Given the description of an element on the screen output the (x, y) to click on. 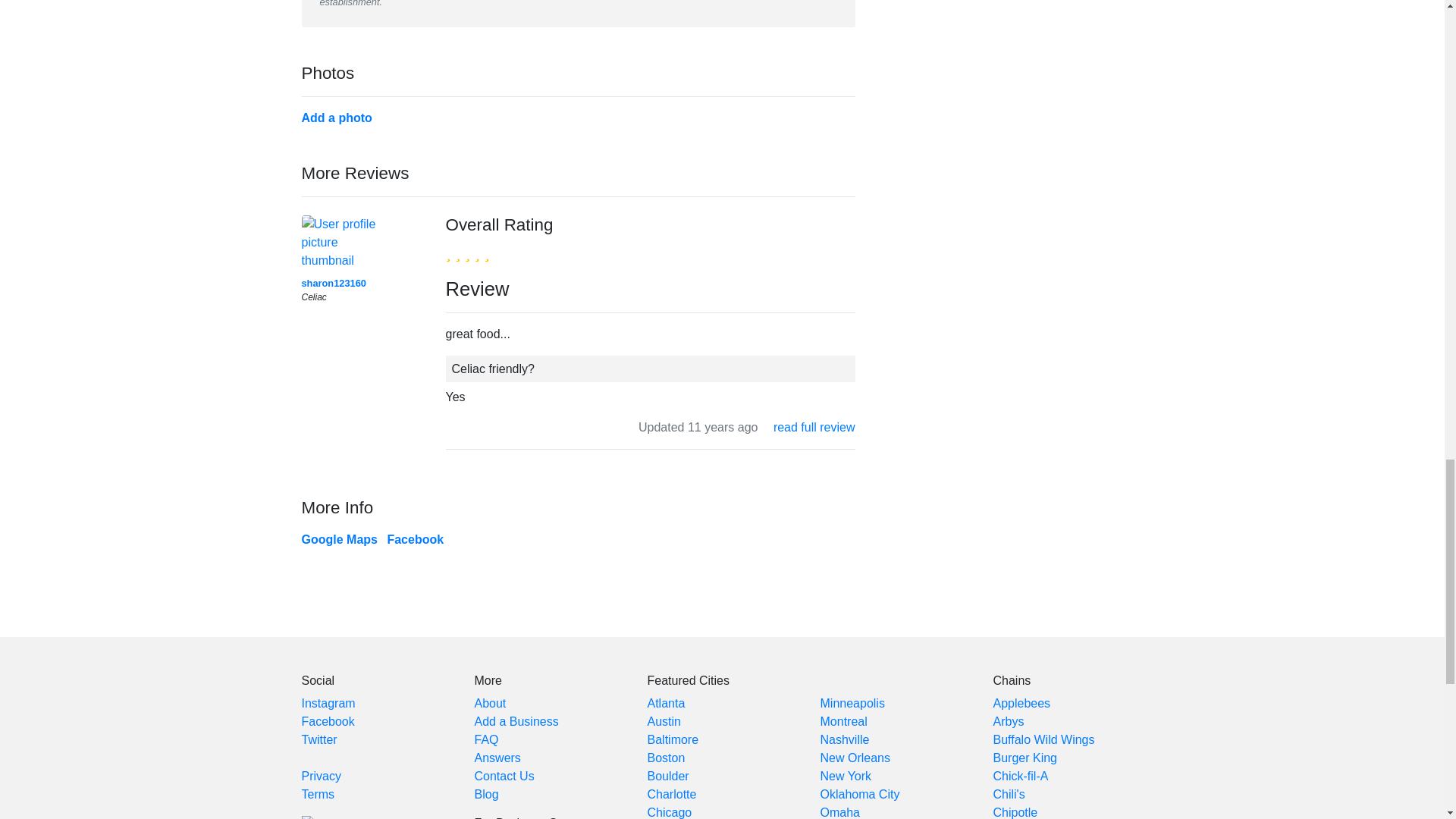
read full review (814, 427)
Google Maps (339, 539)
Facebook (415, 539)
Add a photo (336, 117)
5 star rating (467, 252)
sharon123160 (333, 283)
